Given the description of an element on the screen output the (x, y) to click on. 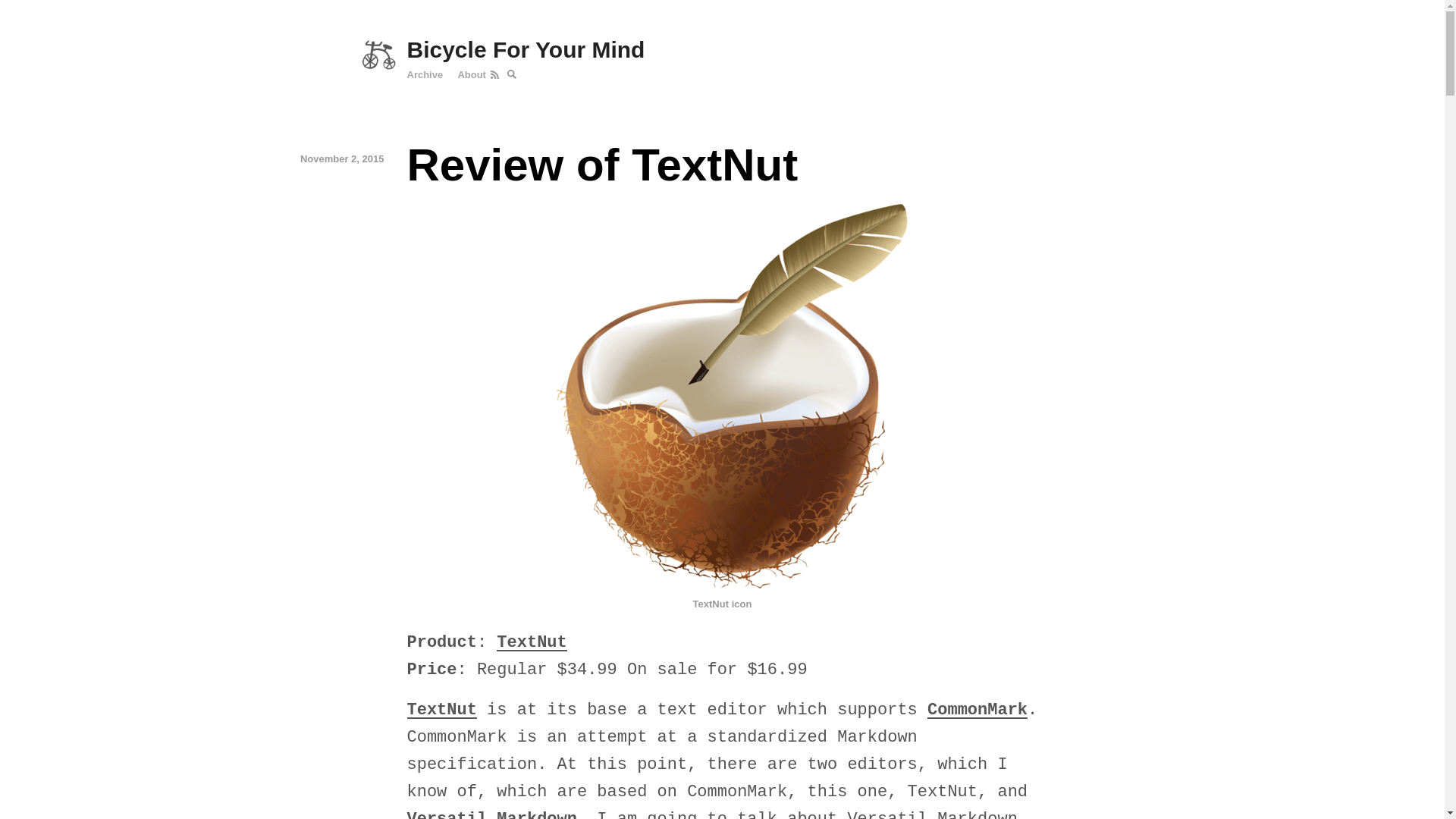
Archive (424, 74)
CommonMark (977, 710)
TextNut (441, 710)
Archives (424, 74)
RSS feed for  Bicycle For Your Mind (496, 74)
About (471, 74)
Bicycle For Your Mind (721, 49)
About (471, 74)
November 2, 2015 (313, 158)
Versatil Markdown (491, 814)
